Given the description of an element on the screen output the (x, y) to click on. 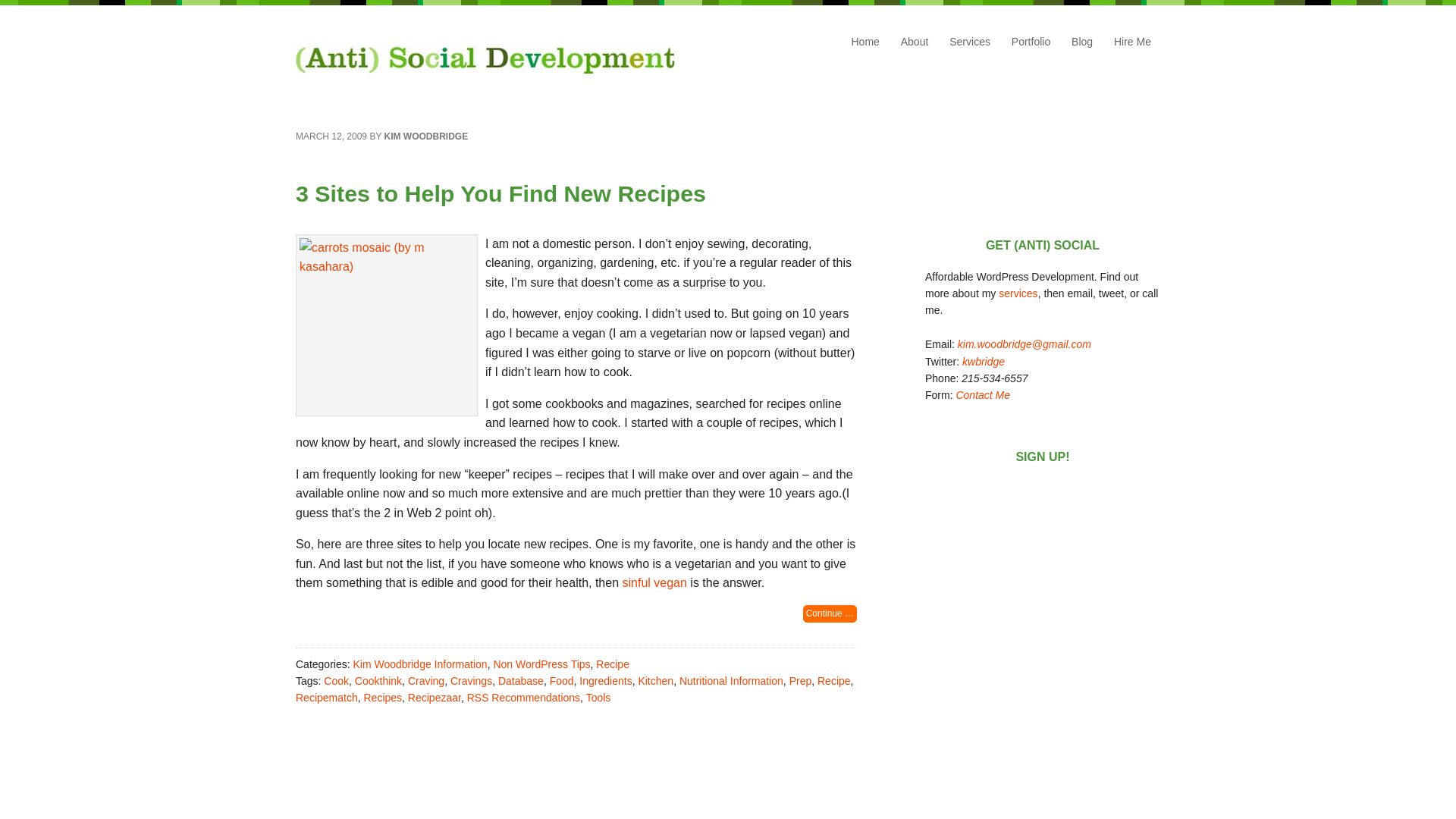
Tweet Me (983, 361)
kwbridge (983, 361)
Services (1017, 293)
Nutritional Information (731, 680)
Kitchen (654, 680)
Email Me (1024, 344)
Contact Form (982, 395)
3 Sites to Help You Find New Recipes (500, 193)
Cook (336, 680)
Recipes (381, 697)
